Given the description of an element on the screen output the (x, y) to click on. 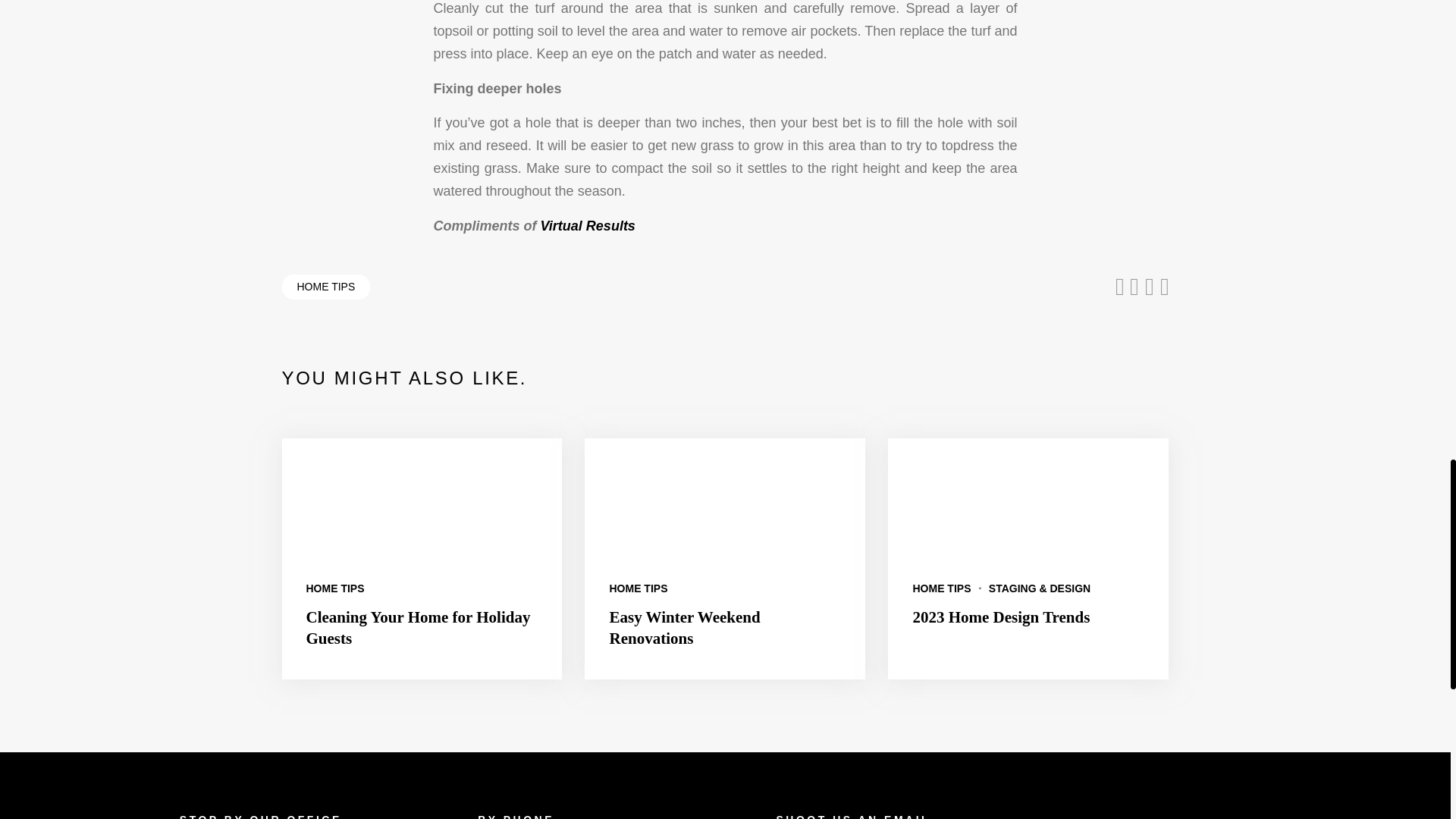
HOME TIPS (335, 588)
HOME TIPS (941, 588)
HOME TIPS (637, 588)
HOME TIPS (326, 286)
Virtual Results (587, 225)
